Given the description of an element on the screen output the (x, y) to click on. 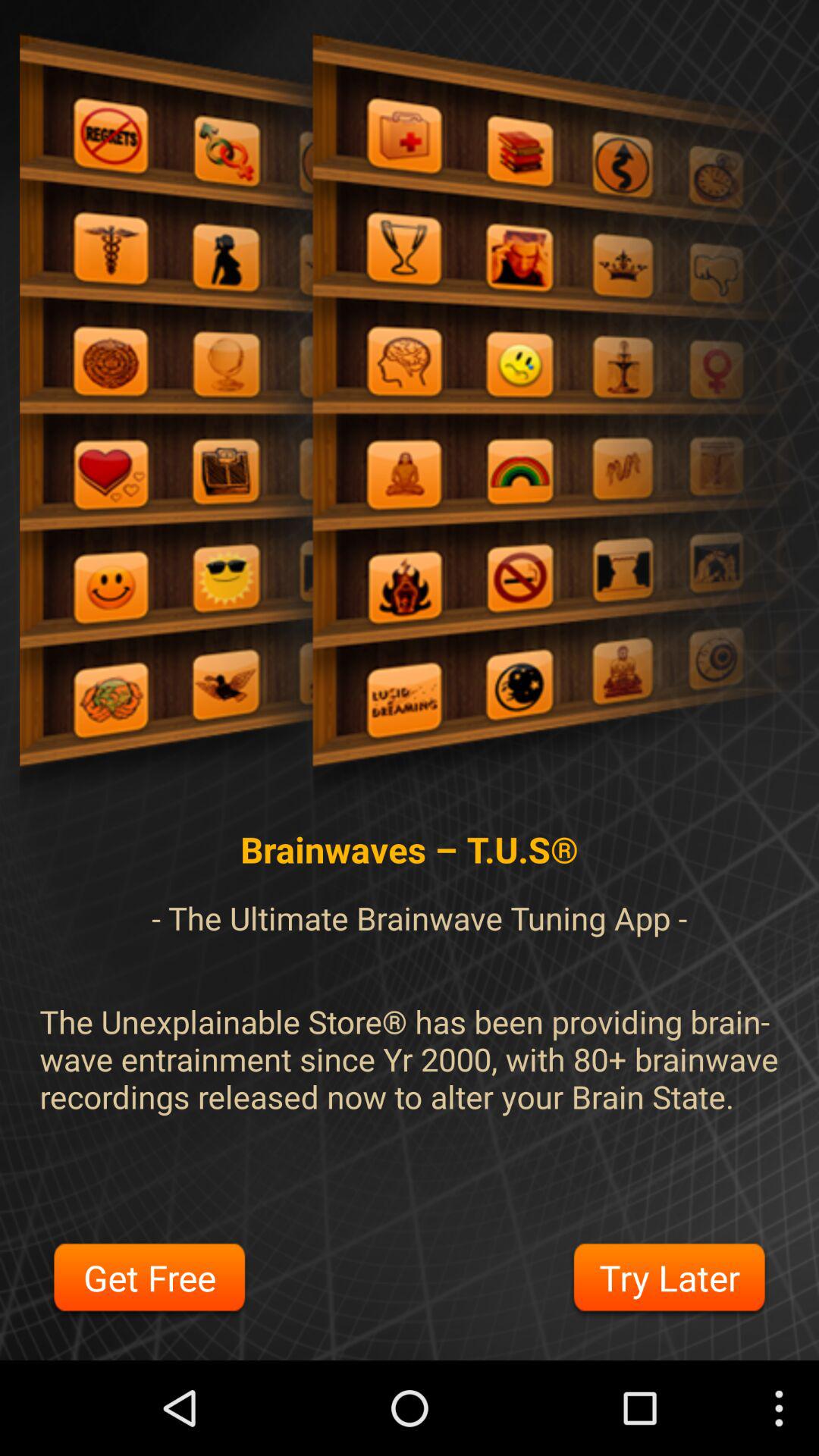
choose the try later button (668, 1280)
